Given the description of an element on the screen output the (x, y) to click on. 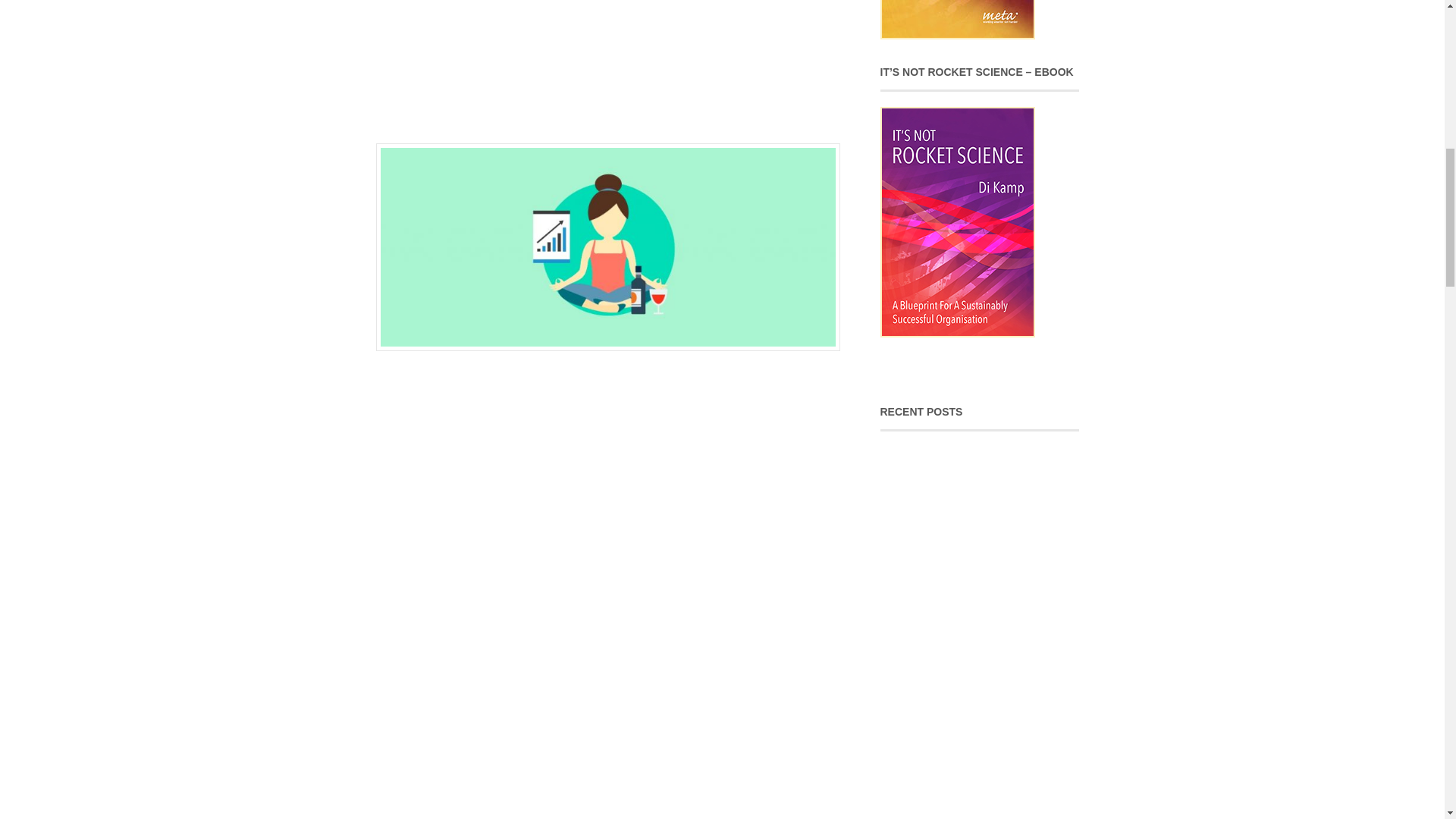
available for Kindle on Amazon. (970, 367)
RECLAIMING YOUR WORK-LIFE BALANCE IN THE HYBRID ERA (964, 529)
STOPPING TO SMELL THE FLOWERS (983, 554)
IMPROVING TEAM COMMUNICATION IN THE HYBRID ERA (980, 462)
